Given the description of an element on the screen output the (x, y) to click on. 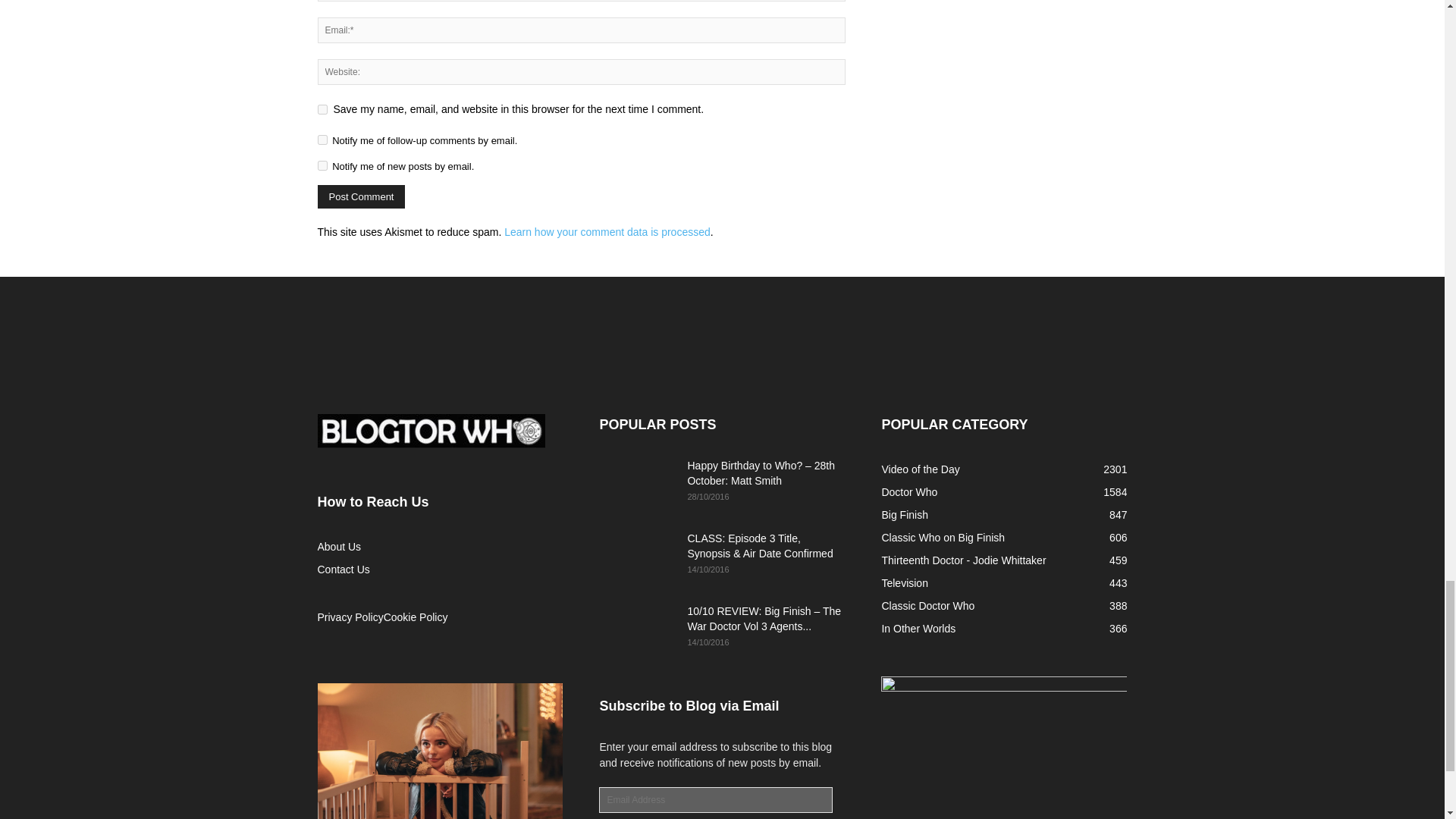
subscribe (321, 165)
subscribe (321, 139)
Post Comment (360, 196)
yes (321, 109)
